Given the description of an element on the screen output the (x, y) to click on. 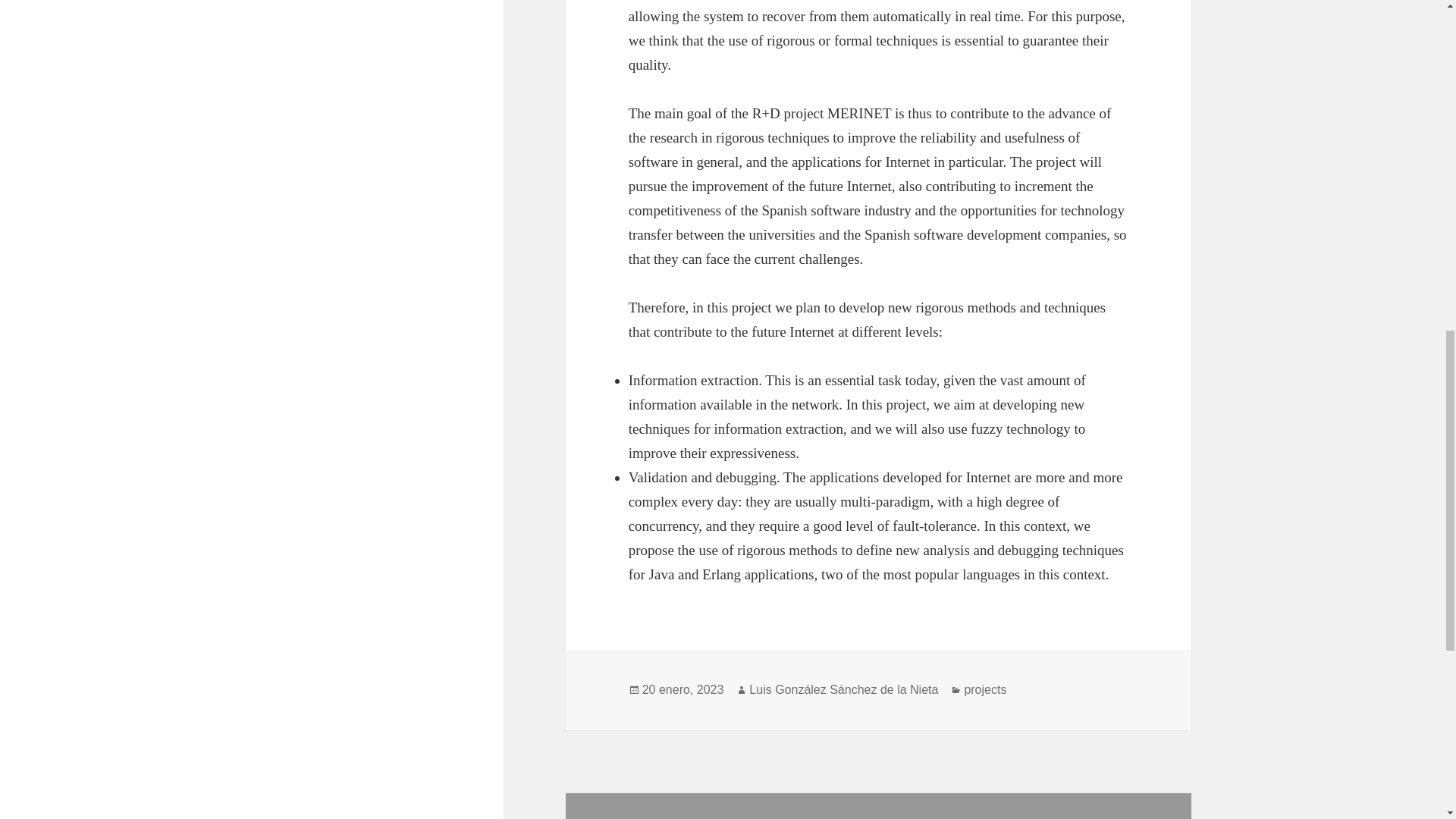
20 enero, 2023 (682, 689)
projects (984, 689)
